Given the description of an element on the screen output the (x, y) to click on. 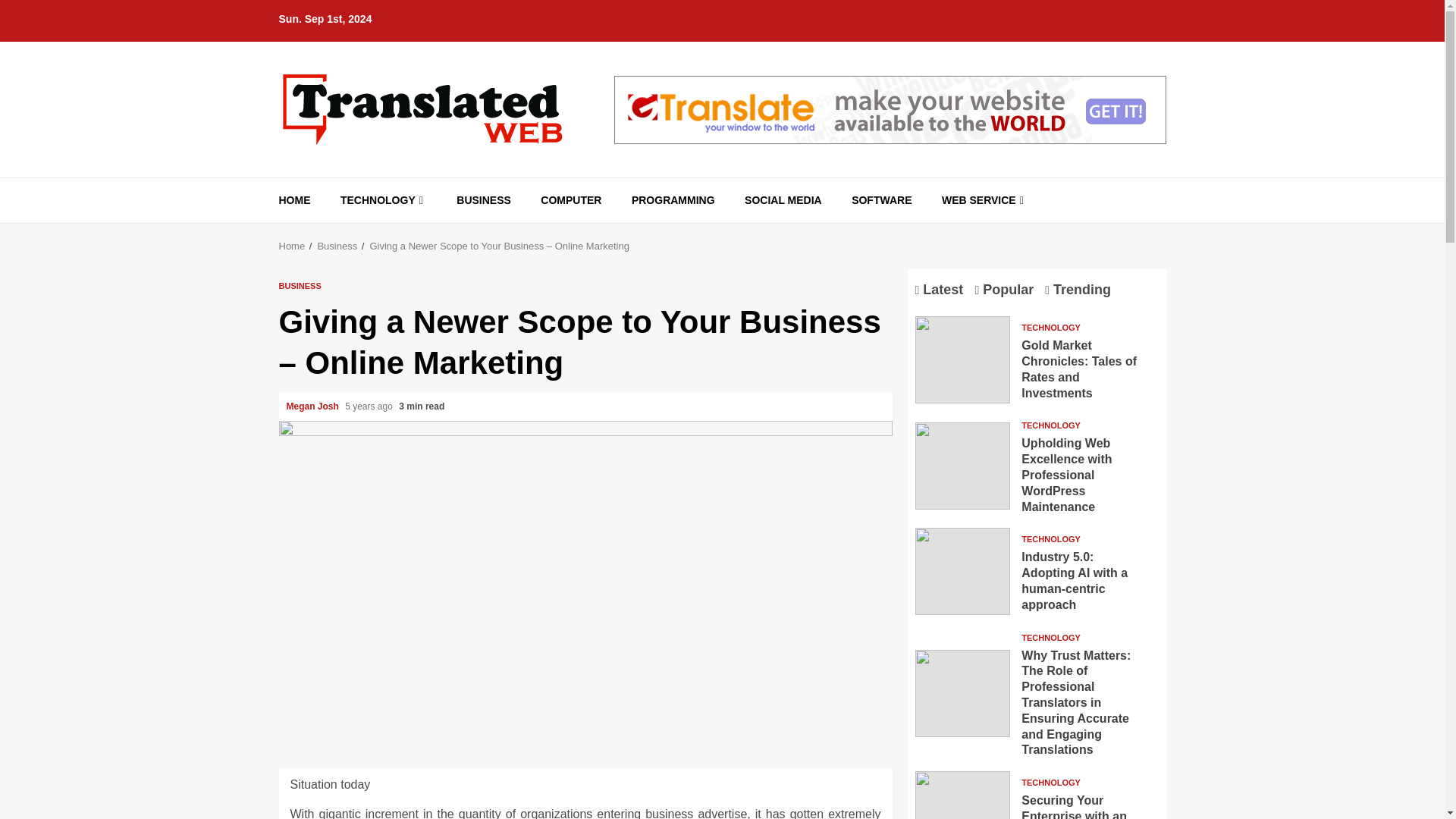
WEB SERVICE (984, 200)
Business (336, 245)
SOFTWARE (881, 200)
Home (292, 245)
Megan Josh (314, 406)
Search (1126, 226)
Popular (1007, 290)
COMPUTER (570, 200)
BUSINESS (484, 200)
Latest (942, 290)
